Given the description of an element on the screen output the (x, y) to click on. 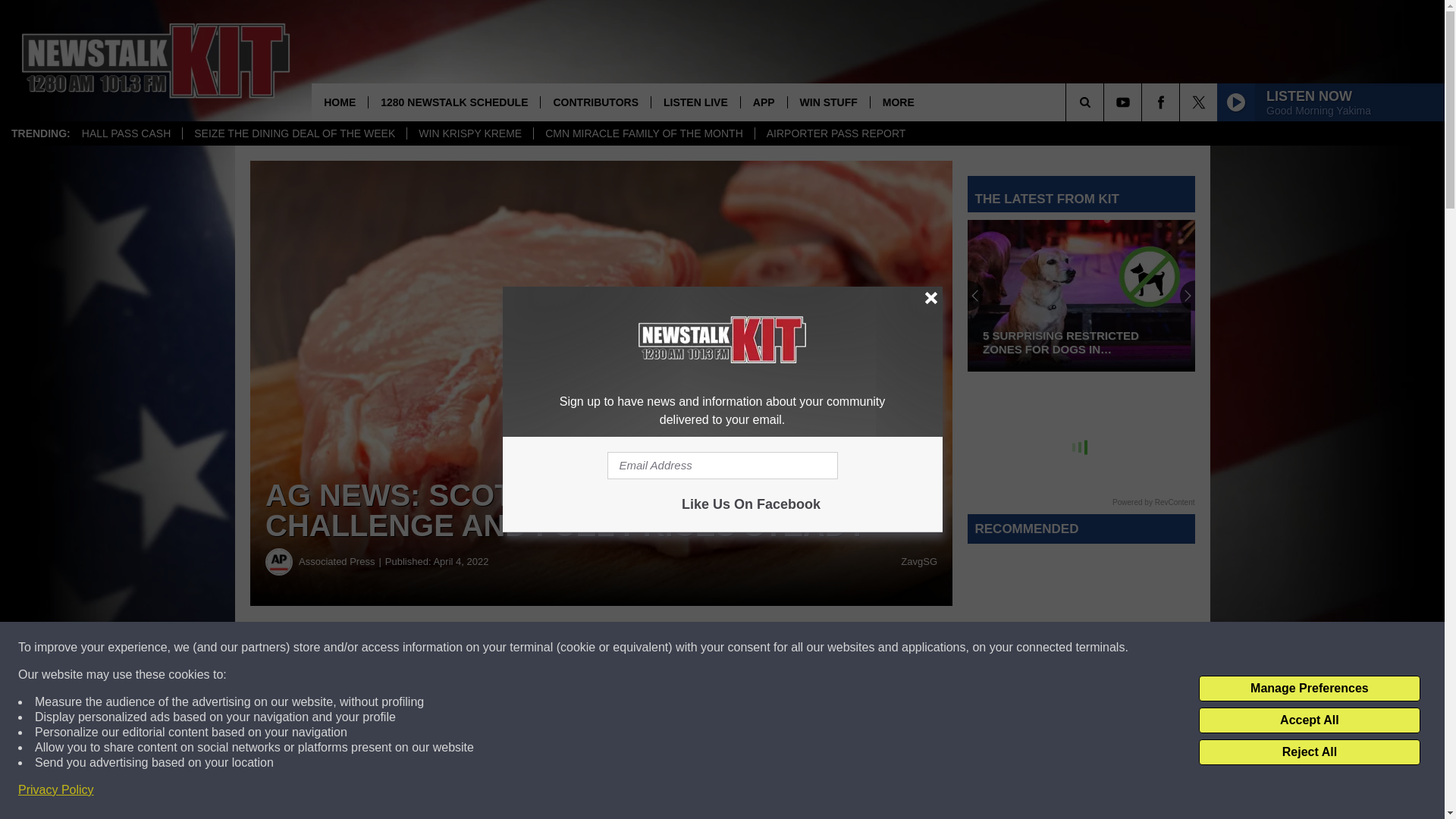
SEARCH (1106, 102)
Share on Twitter (741, 647)
CMN MIRACLE FAMILY OF THE MONTH (643, 133)
Manage Preferences (1309, 688)
HALL PASS CASH (126, 133)
AIRPORTER PASS REPORT (835, 133)
CONTRIBUTORS (595, 102)
Accept All (1309, 720)
Privacy Policy (55, 789)
1280 NEWSTALK SCHEDULE (454, 102)
Email Address (722, 465)
LISTEN LIVE (694, 102)
SEARCH (1106, 102)
Reject All (1309, 751)
WIN KRISPY KREME (469, 133)
